Given the description of an element on the screen output the (x, y) to click on. 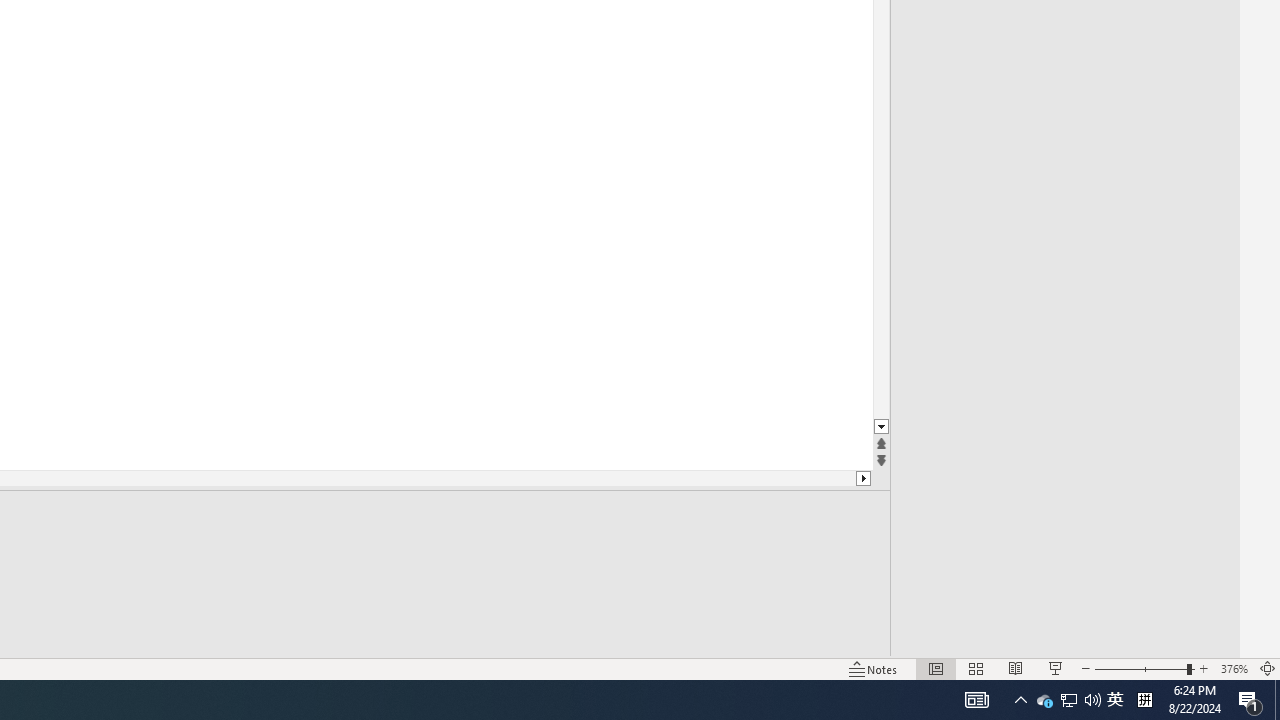
Zoom 376% (1234, 668)
